Given the description of an element on the screen output the (x, y) to click on. 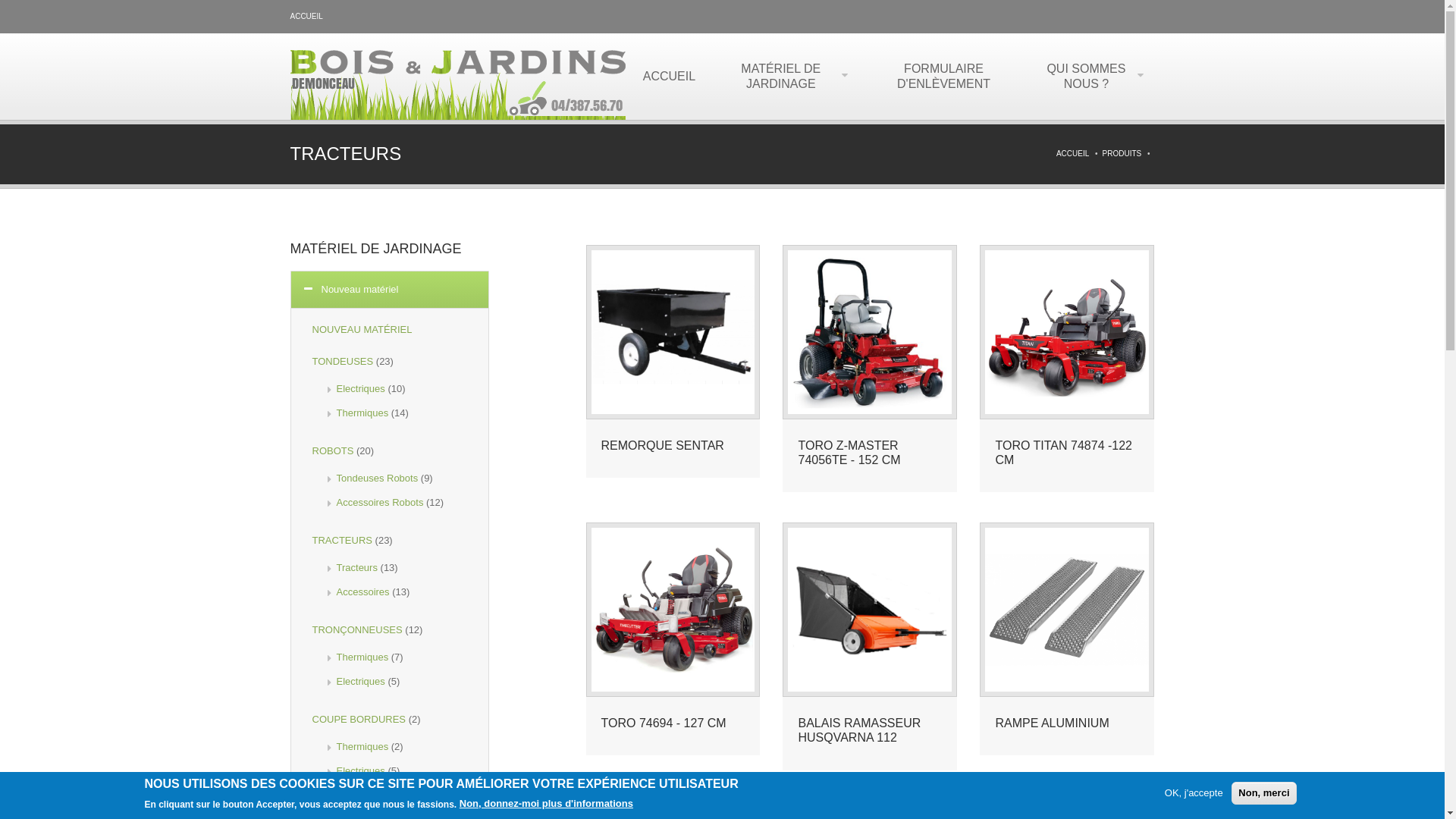
TORO Z-MASTER 74056TE - 152 CM Element type: text (848, 452)
Thermiques Element type: text (362, 412)
TORO 74694 - 127 CM Element type: text (662, 722)
Thermiques Element type: text (362, 746)
ACCUEIL Element type: text (305, 16)
REMORQUE SENTAR Element type: text (661, 445)
TRACTEURS Element type: text (342, 540)
BALAIS RAMASSEUR HUSQVARNA 112 Element type: text (858, 729)
TORO TITAN 74874 -122 CM Element type: text (1063, 452)
PRODUITS Element type: text (1122, 153)
TONDEUSES Element type: text (342, 361)
Thermiques Element type: text (362, 656)
ACCUEIL Element type: text (668, 76)
Accessoires Element type: text (362, 591)
Accessoires Robots Element type: text (379, 502)
Electriques Element type: text (360, 770)
Electriques Element type: text (360, 388)
RAMPE ALUMINIUM Element type: text (1051, 722)
OK, j'accepte Element type: text (1193, 792)
Tondeuses Robots Element type: text (377, 477)
ACCUEIL Element type: text (1072, 153)
Electriques Element type: text (360, 681)
Non, merci Element type: text (1263, 792)
COUPE BORDURES Element type: text (359, 718)
ROBOTS Element type: text (333, 450)
Tracteurs Element type: text (356, 567)
Non, donnez-moi plus d'informations Element type: text (546, 803)
QUI SOMMES NOUS ? Element type: text (1091, 76)
